Given the description of an element on the screen output the (x, y) to click on. 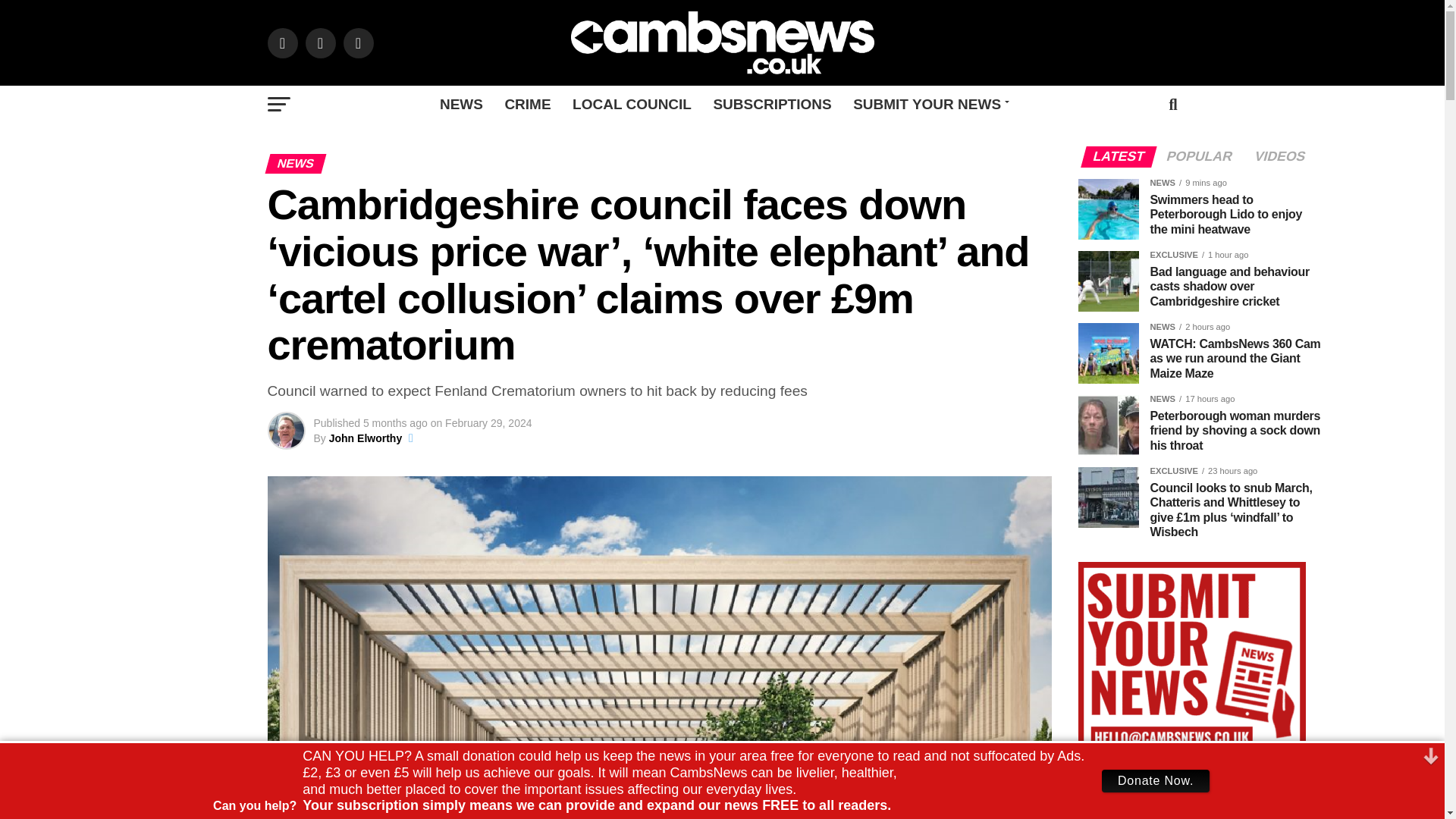
LOCAL COUNCIL (631, 104)
SUBSCRIPTIONS (771, 104)
NEWS (461, 104)
CRIME (527, 104)
SUBMIT YOUR NEWS (928, 104)
